Given the description of an element on the screen output the (x, y) to click on. 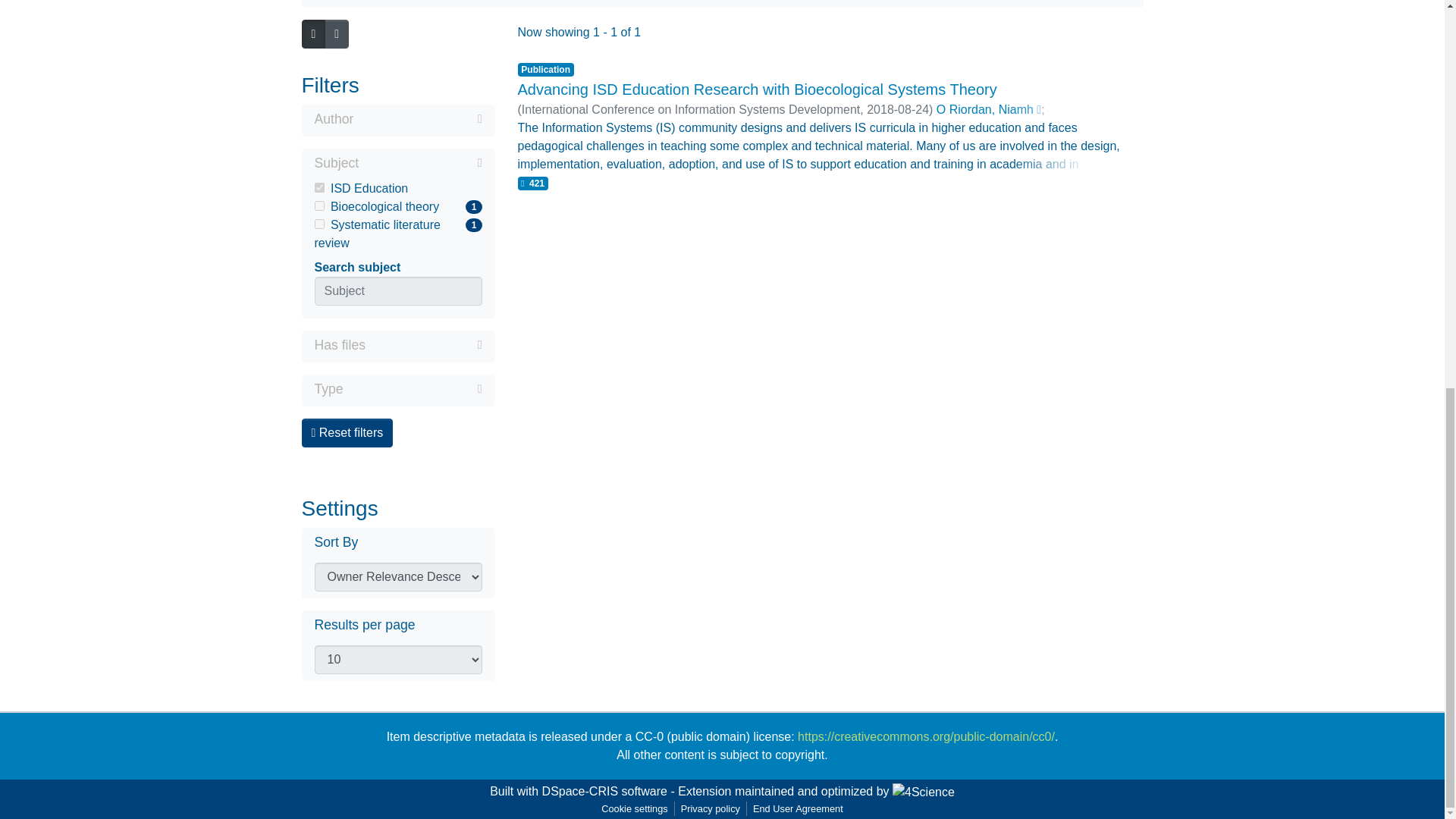
Author (397, 120)
on (318, 224)
Show as list (313, 33)
Has files (397, 346)
ISD Education (397, 188)
Collapse filter (419, 162)
Expand filter (423, 344)
on (318, 187)
Subject (397, 164)
on (318, 205)
Show as grid (336, 33)
Expand filter (417, 118)
Expand filter (397, 234)
Downloads (412, 389)
